Given the description of an element on the screen output the (x, y) to click on. 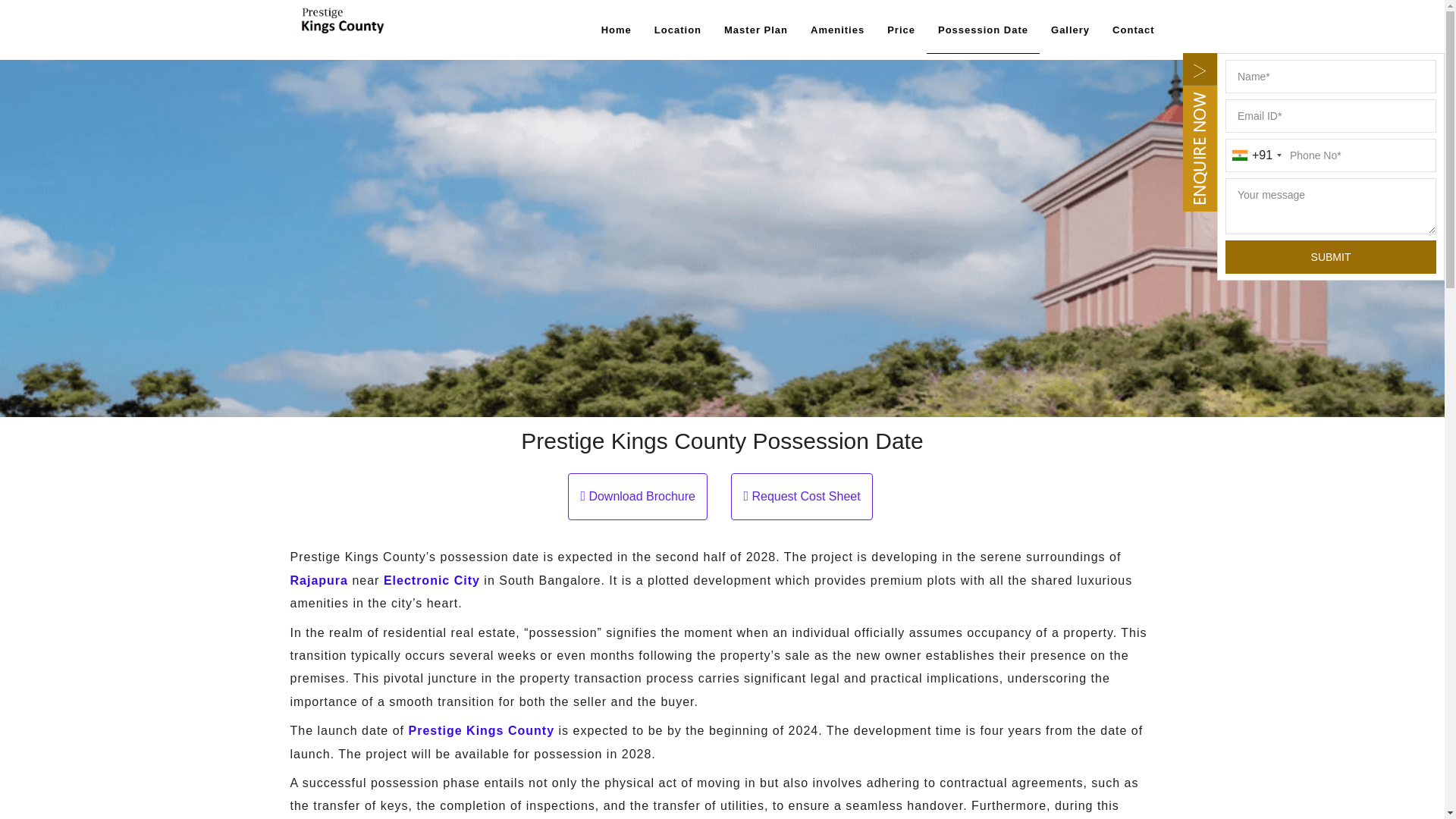
Master Plan (756, 30)
Prestige Kings County Amenities (837, 30)
Possession Date (982, 30)
SUBMIT (1330, 256)
Location (678, 30)
Electronic City (432, 580)
Request Cost Sheet (801, 504)
Contact (1133, 30)
Prestige Kings County Location Map (678, 30)
Prestige Kings County Contact (1133, 30)
